Given the description of an element on the screen output the (x, y) to click on. 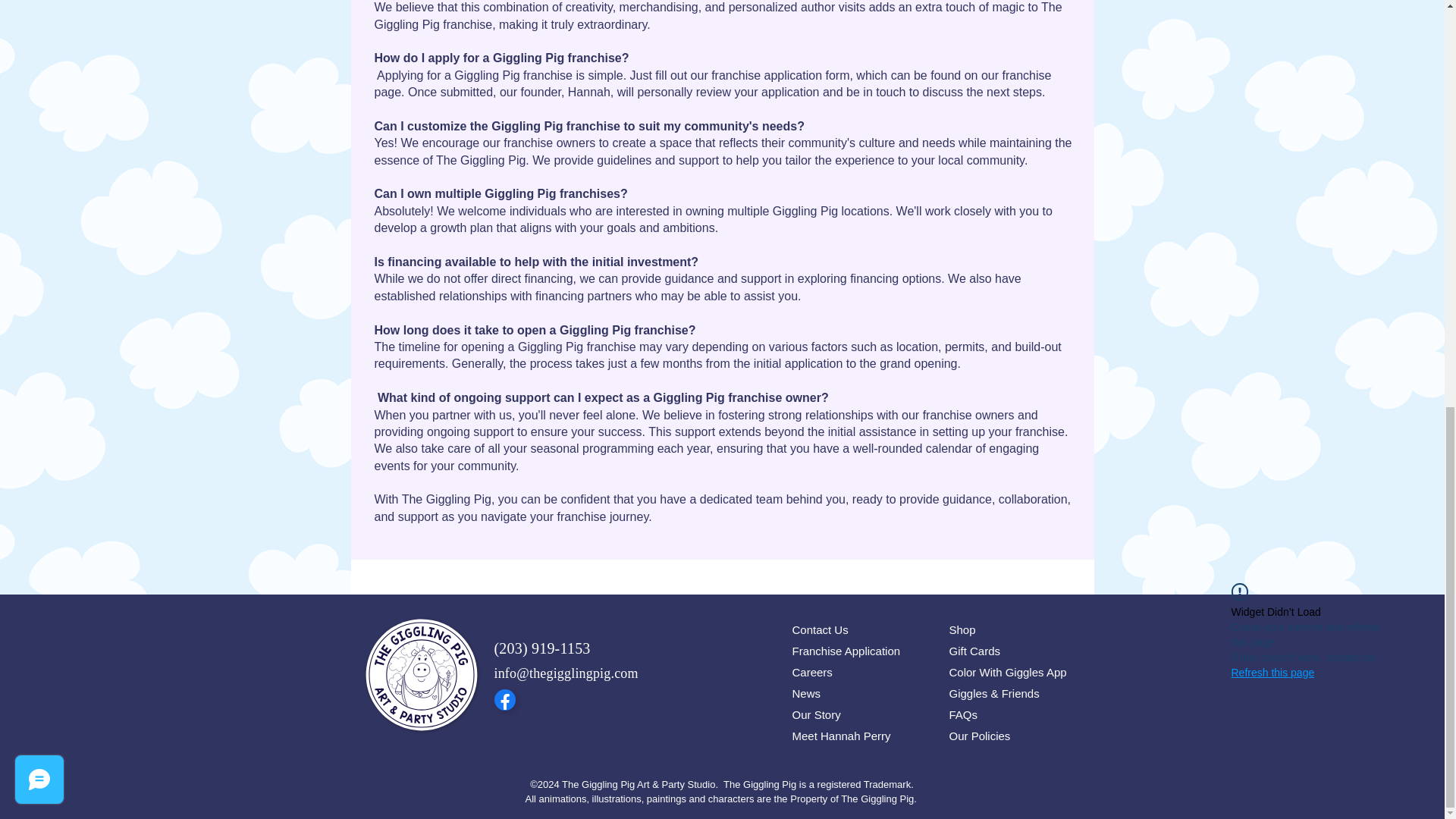
Franchise Application (855, 651)
Wix Chat (35, 5)
Contact Us (855, 630)
